Given the description of an element on the screen output the (x, y) to click on. 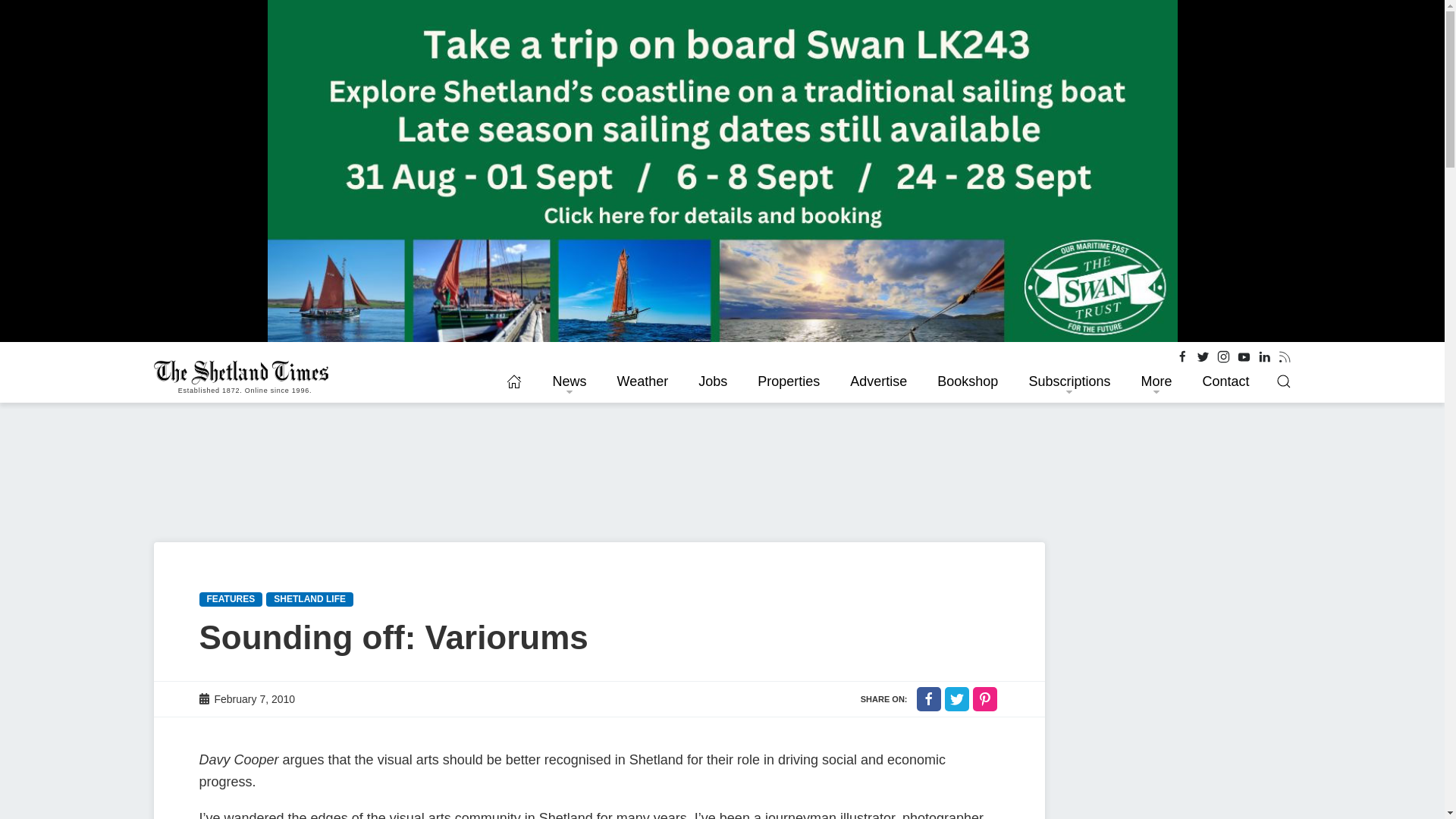
More (1155, 381)
Bookshop (967, 381)
Advertise (877, 381)
3rd party ad content (1176, 637)
Contact (1224, 381)
3rd party ad content (1176, 786)
Jobs (712, 381)
News (569, 381)
Weather (641, 381)
Properties (788, 381)
